Given the description of an element on the screen output the (x, y) to click on. 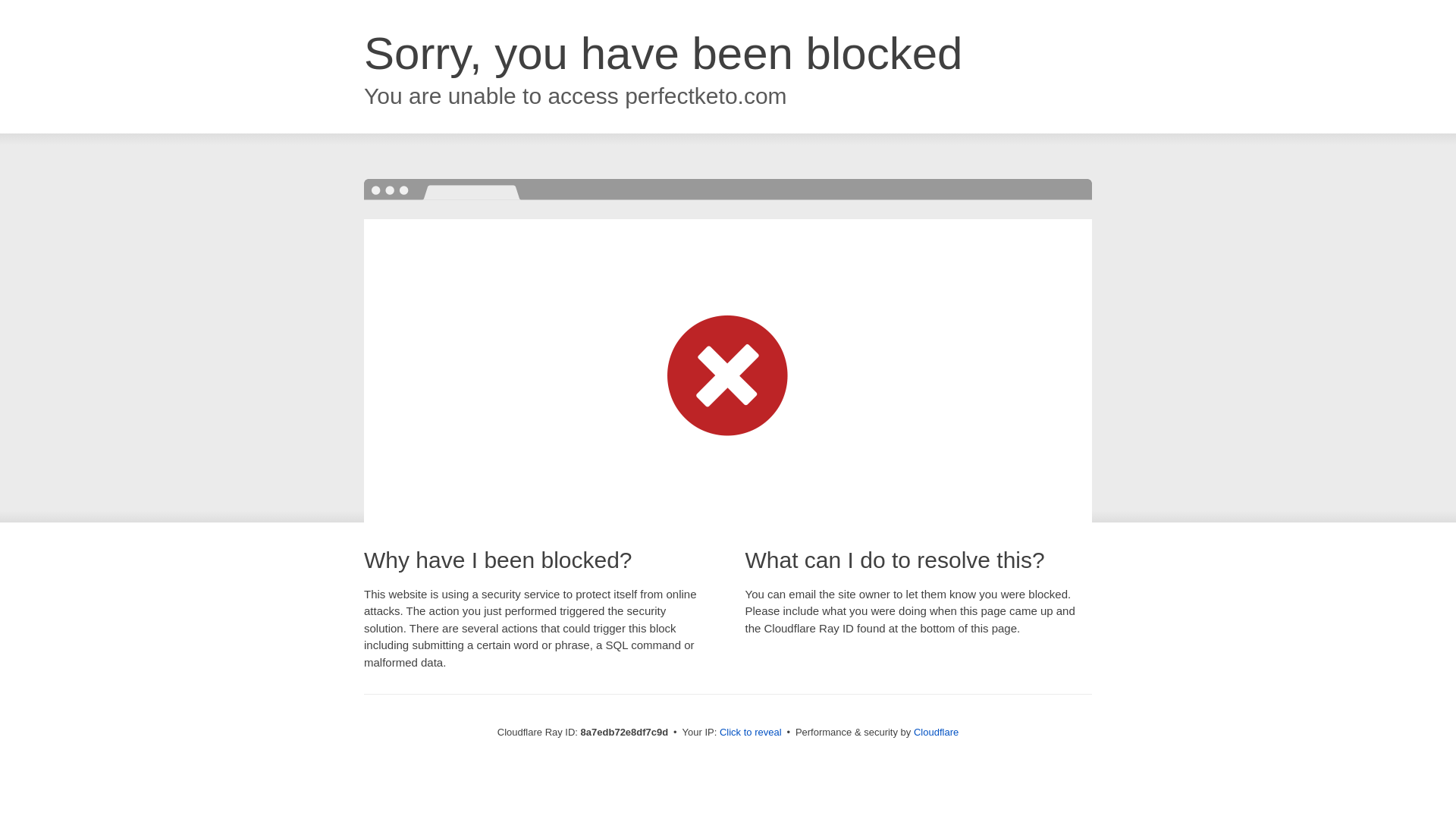
Click to reveal (750, 732)
Cloudflare (936, 731)
